Given the description of an element on the screen output the (x, y) to click on. 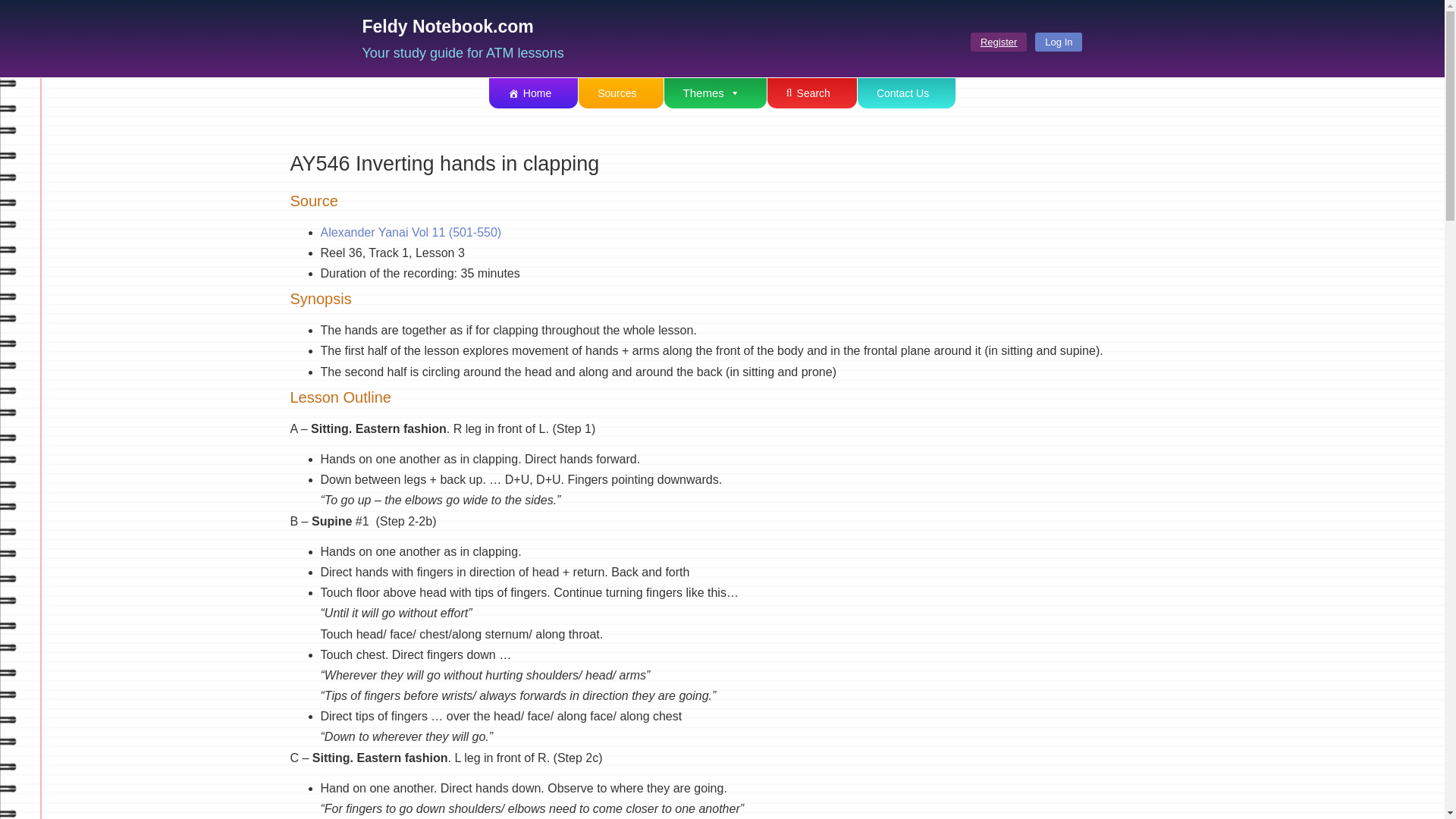
Sources (620, 92)
Contact Us (906, 92)
Log In (1058, 41)
Themes (715, 92)
Home (533, 92)
Register (998, 41)
Search (812, 92)
Feldy Notebook.com (448, 26)
